Given the description of an element on the screen output the (x, y) to click on. 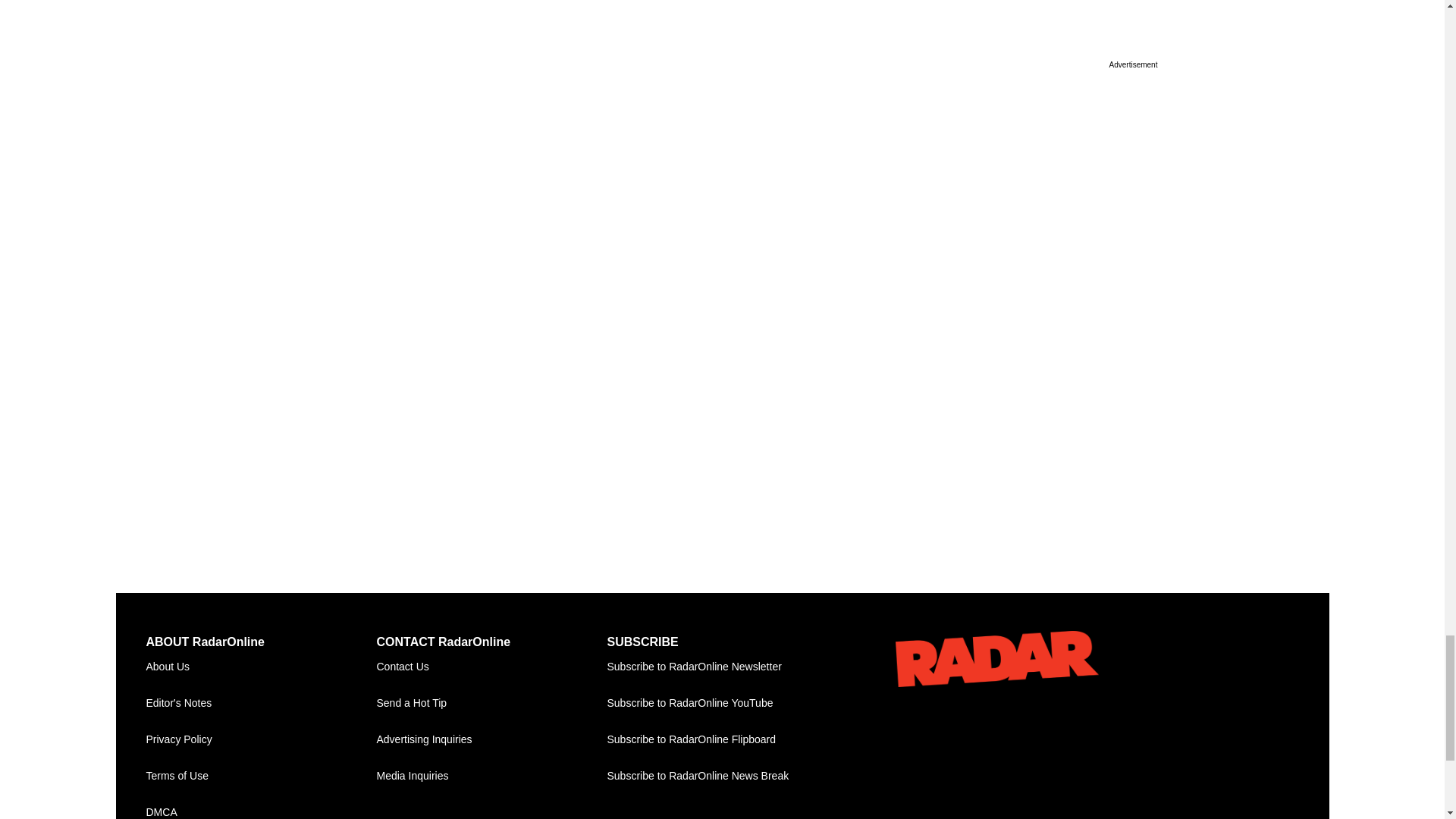
DMCA (260, 806)
About Us (260, 667)
Media Inquiries (491, 776)
Terms of Use (260, 776)
Subscribe to RadarOnline on YouTube (722, 703)
Privacy Policy (260, 739)
Terms of Use (260, 776)
Subscribe to RadarOnline Flipboard (722, 739)
Advertising Inquiries (491, 739)
Editor's Notes (260, 703)
Contact Us (491, 667)
Subscribe to RadarOnline News Break (722, 776)
Editor's Notes (260, 703)
Privacy Policy (260, 739)
Subscribe (722, 667)
